Given the description of an element on the screen output the (x, y) to click on. 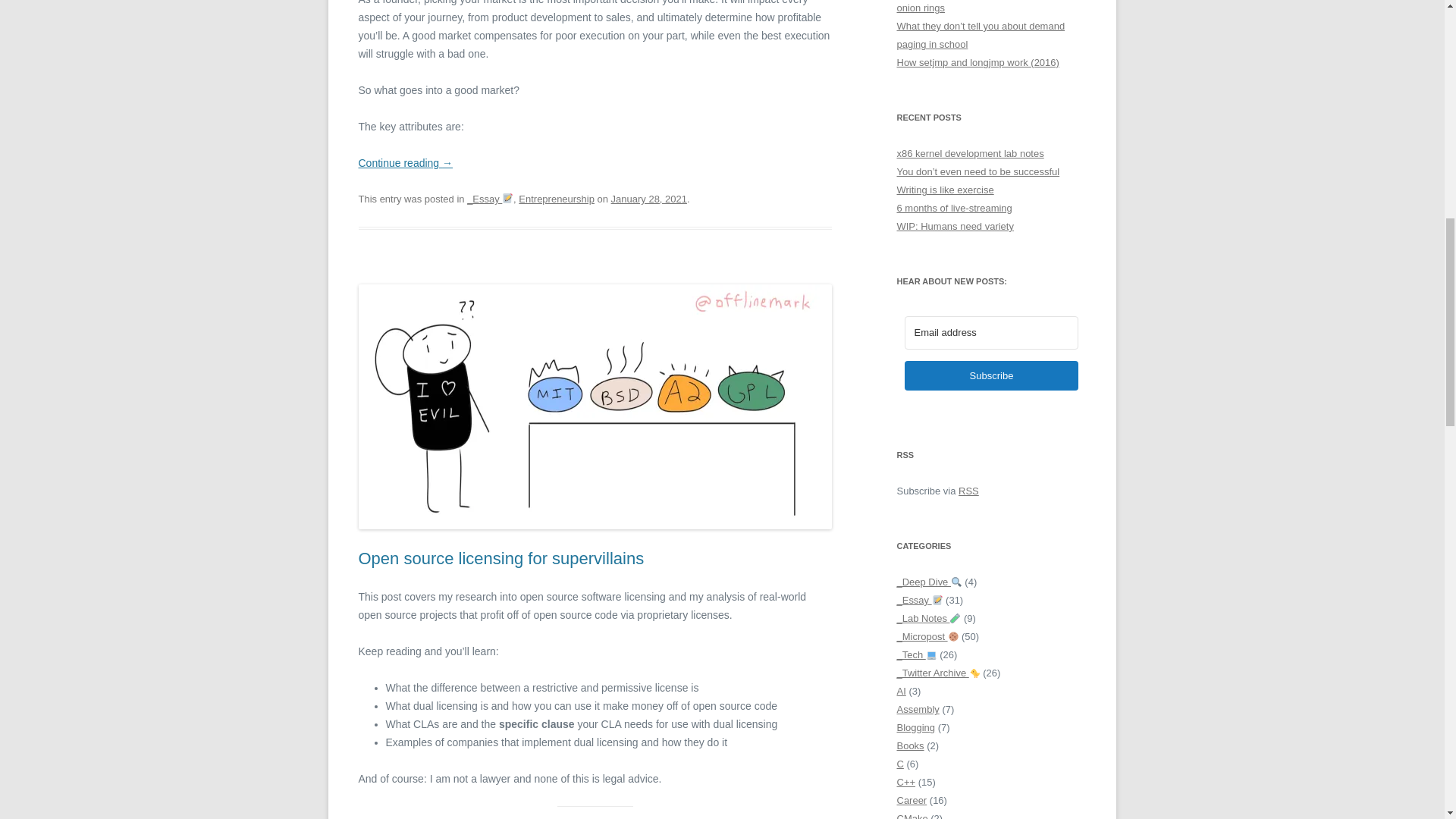
January 28, 2021 (649, 198)
2:17 pm (649, 198)
Entrepreneurship (556, 198)
Open source licensing for supervillains (500, 558)
